Given the description of an element on the screen output the (x, y) to click on. 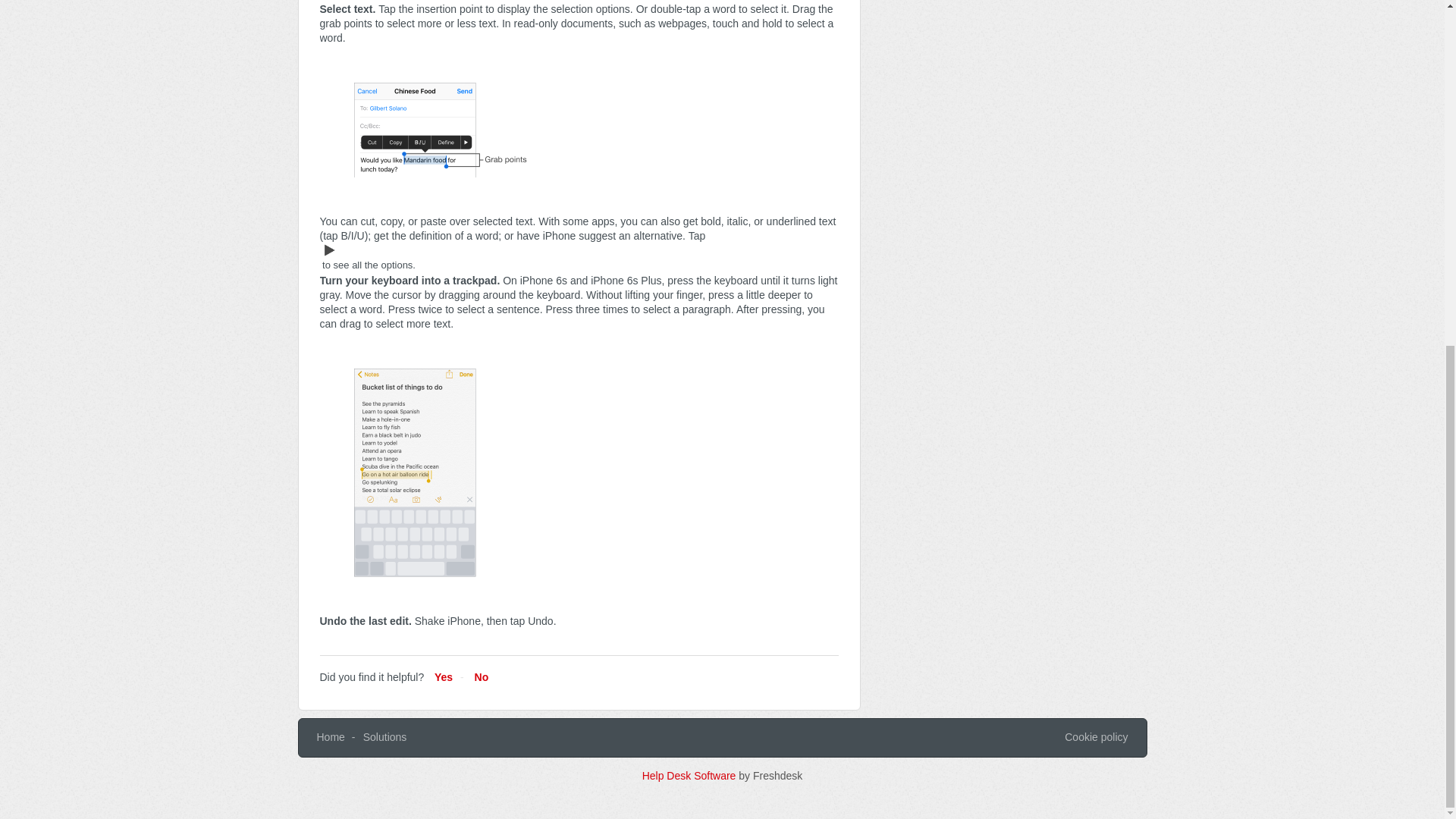
Home (331, 736)
Help Desk Software (690, 775)
Why we love Cookies (1095, 737)
Solutions (384, 736)
Cookie policy (1095, 737)
